Given the description of an element on the screen output the (x, y) to click on. 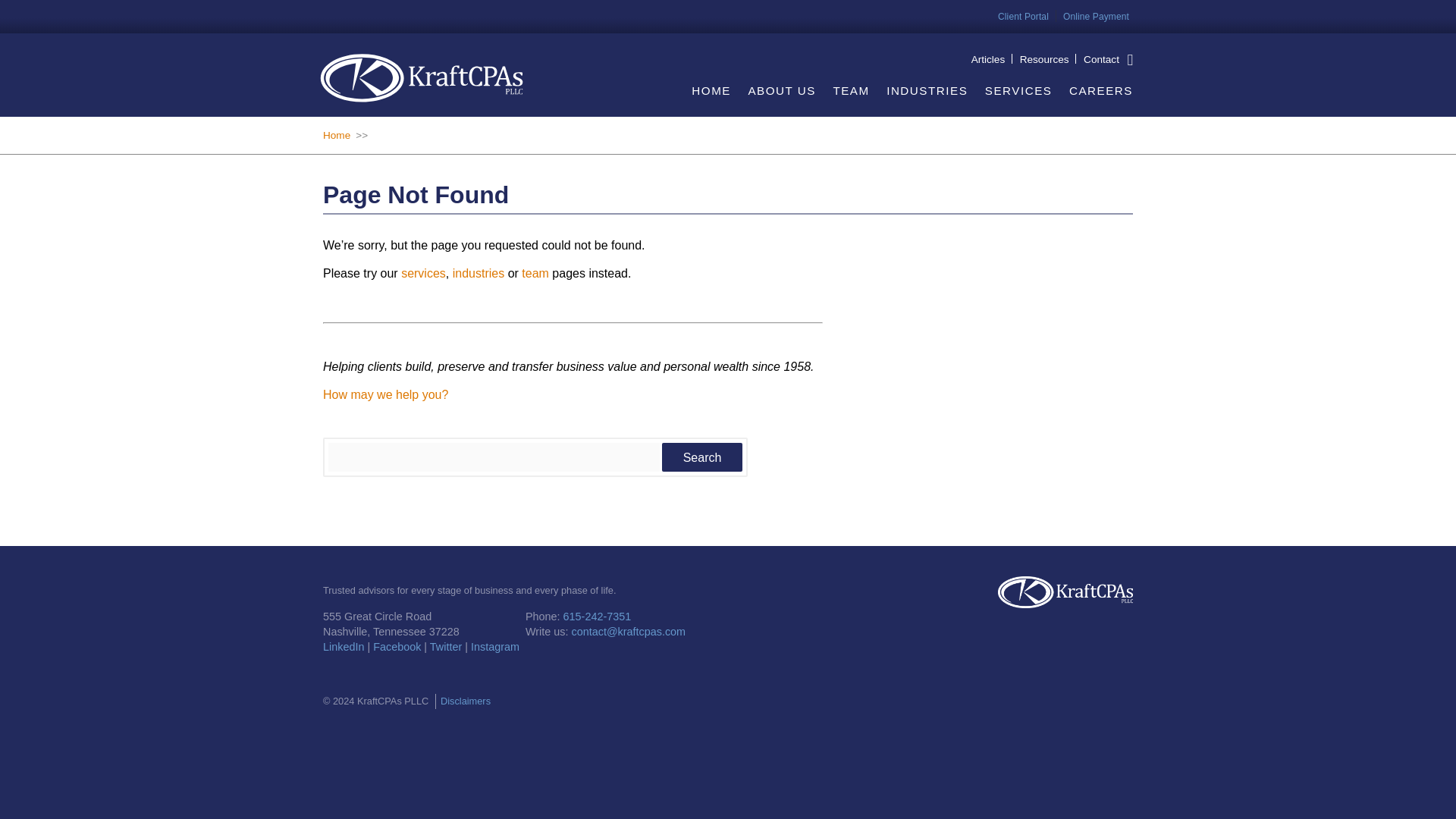
Contact (1101, 59)
Articles (988, 59)
Search (702, 457)
TEAM (850, 100)
INDUSTRIES (927, 100)
HOME (710, 100)
Online Payment (1095, 16)
Resources (1044, 59)
SERVICES (1018, 100)
ABOUT US (781, 100)
